Given the description of an element on the screen output the (x, y) to click on. 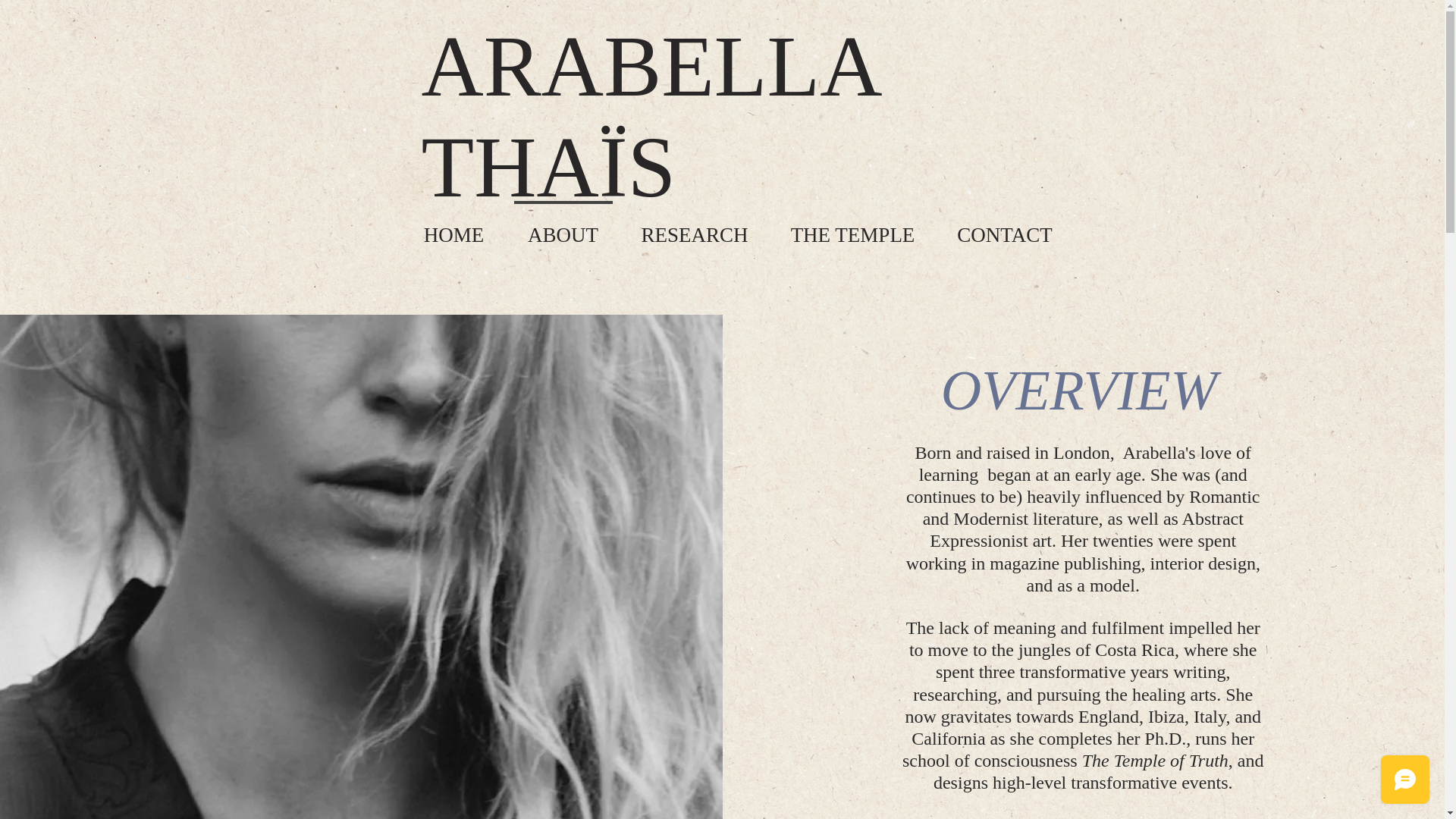
HOME (453, 227)
ABOUT (563, 227)
CONTACT (1004, 227)
RESEARCH (695, 227)
THE TEMPLE (852, 227)
